Given the description of an element on the screen output the (x, y) to click on. 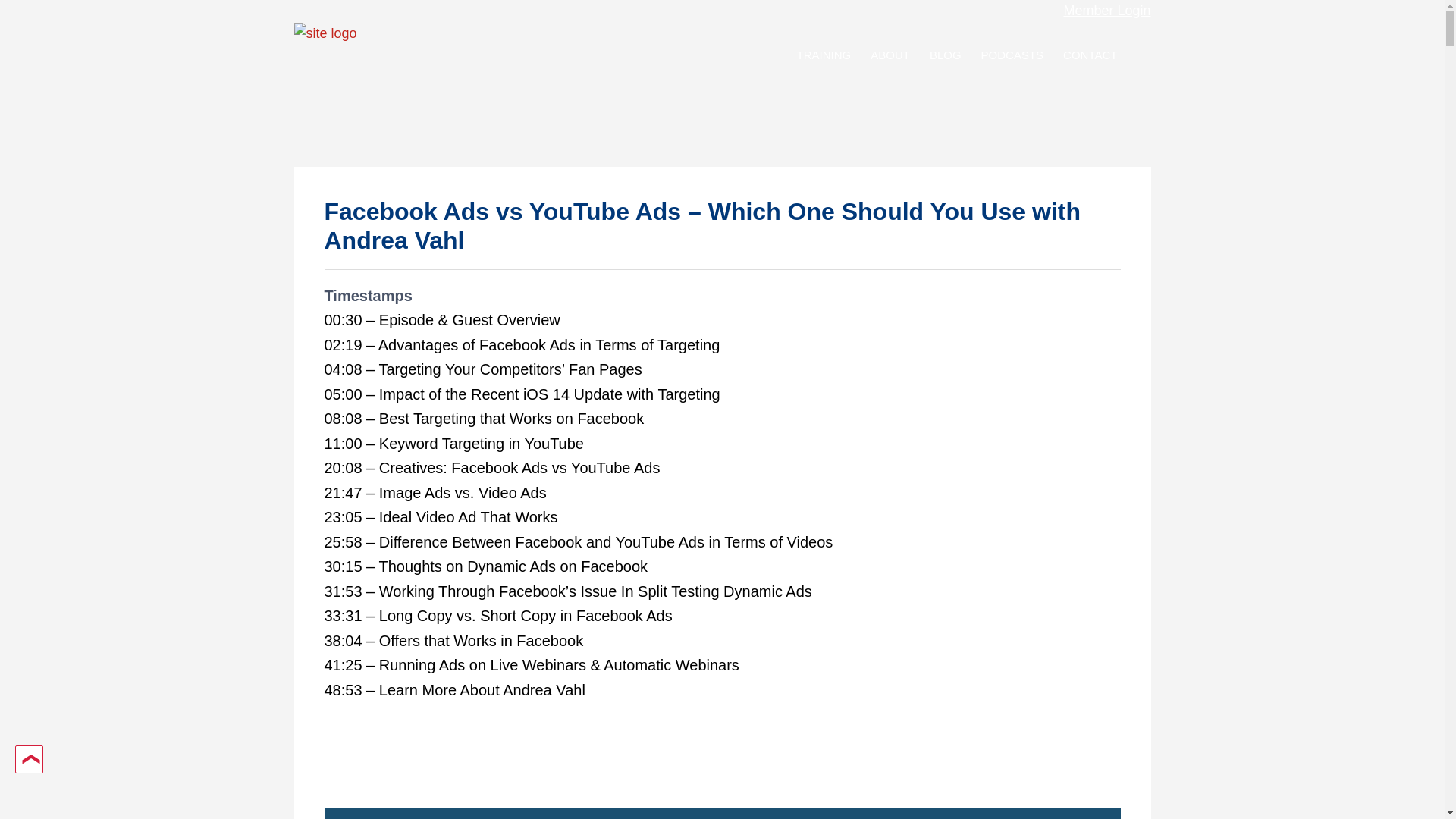
BLOG (945, 58)
CONTACT (1089, 58)
TRAINING (824, 58)
PODCASTS (1012, 58)
ABOUT (890, 58)
Back to top (28, 759)
SEARCH (1141, 53)
Member Login (1106, 11)
Search (18, 12)
